Given the description of an element on the screen output the (x, y) to click on. 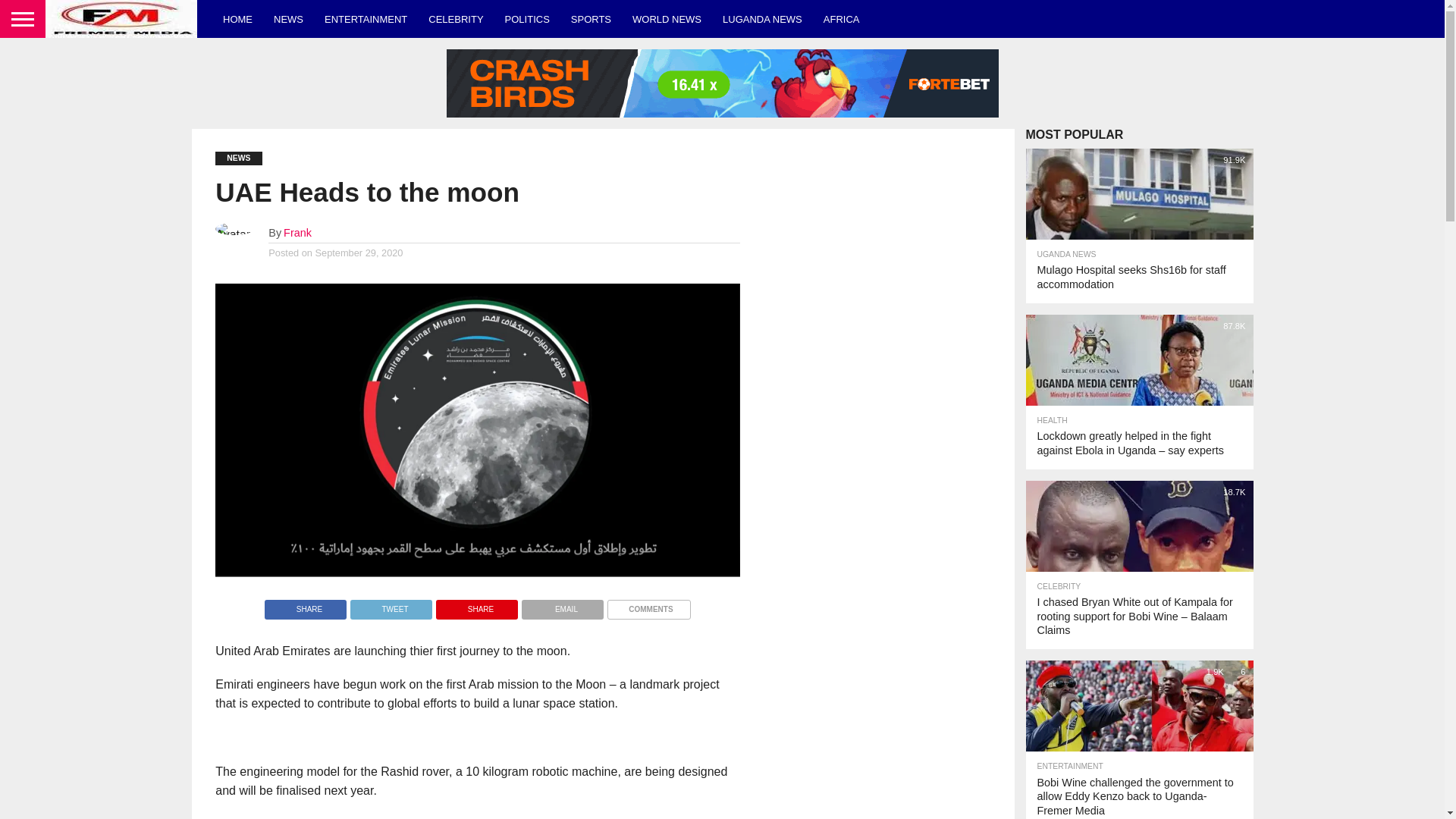
Frank (297, 232)
SHARE (476, 604)
TWEET (390, 604)
POLITICS (527, 18)
ENTERTAINMENT (365, 18)
AFRICA (841, 18)
SPORTS (590, 18)
CELEBRITY (455, 18)
LUGANDA NEWS (761, 18)
Share on Facebook (305, 604)
HOME (237, 18)
WORLD NEWS (666, 18)
Tweet This Post (390, 604)
Pin This Post (476, 604)
COMMENTS (648, 604)
